Given the description of an element on the screen output the (x, y) to click on. 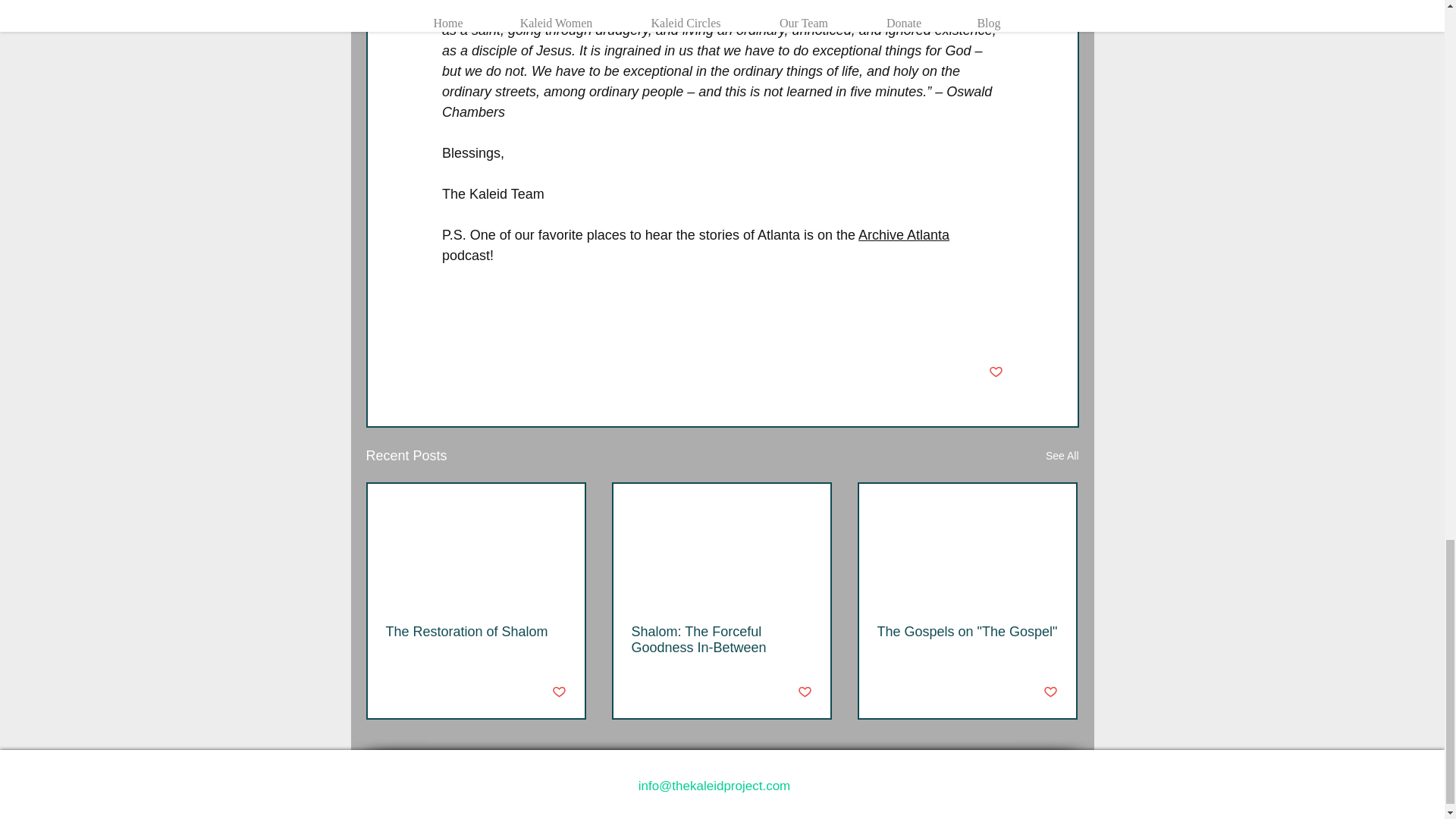
The Restoration of Shalom (475, 631)
Archive Atlanta (904, 234)
0 (435, 692)
0 (681, 692)
Post not marked as liked (804, 692)
The Gospels on "The Gospel" (966, 631)
See All (1061, 455)
Shalom: The Forceful Goodness In-Between (720, 640)
Post not marked as liked (558, 692)
Post not marked as liked (1050, 692)
